Given the description of an element on the screen output the (x, y) to click on. 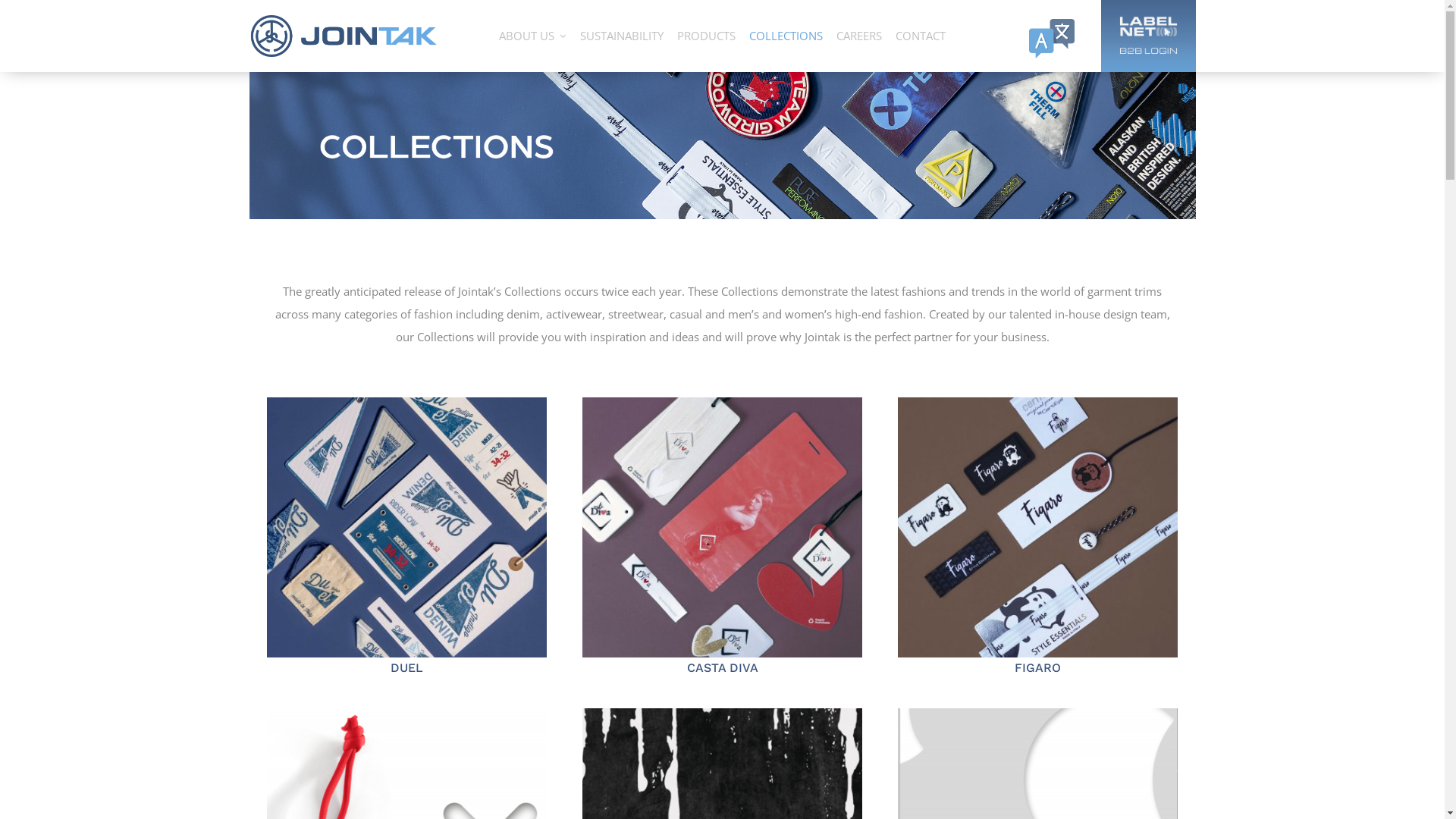
SUSTAINABILITY Element type: text (621, 36)
106 Element type: hover (1051, 38)
29 Element type: hover (406, 527)
ABOUT US Element type: text (529, 36)
COLLECTIONS Element type: text (785, 36)
PRODUCTS Element type: text (706, 36)
CONTACT Element type: text (920, 36)
32 Element type: hover (1036, 527)
31a Element type: hover (721, 527)
CAREERS Element type: text (858, 36)
